Given the description of an element on the screen output the (x, y) to click on. 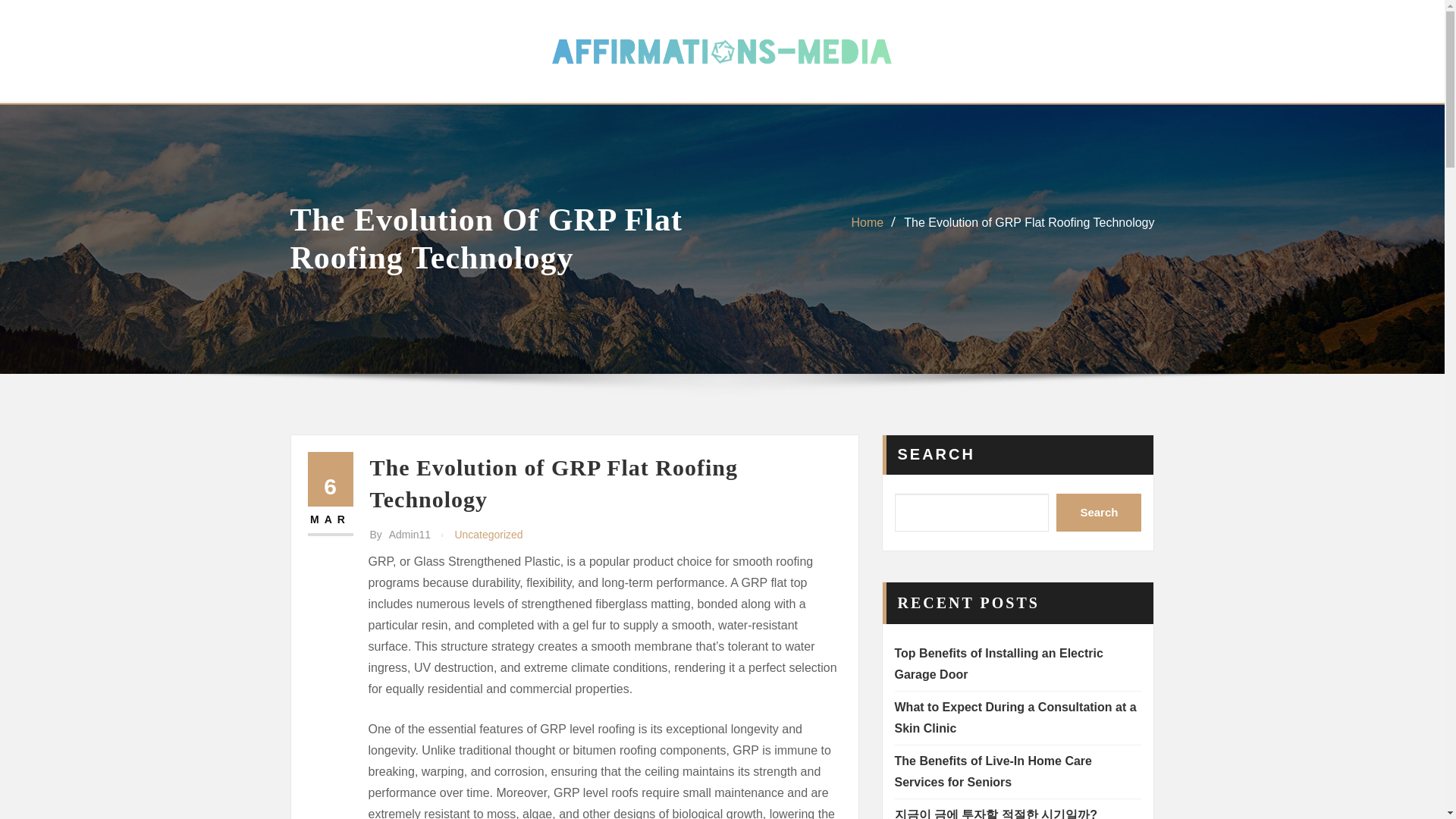
What to Expect During a Consultation at a Skin Clinic (1016, 717)
Uncategorized (488, 534)
By Admin11 (399, 534)
Top Benefits of Installing an Electric Garage Door (999, 663)
The Benefits of Live-In Home Care Services for Seniors (994, 771)
The Evolution of GRP Flat Roofing Technology (1029, 222)
Home (866, 222)
Search (1099, 512)
